Given the description of an element on the screen output the (x, y) to click on. 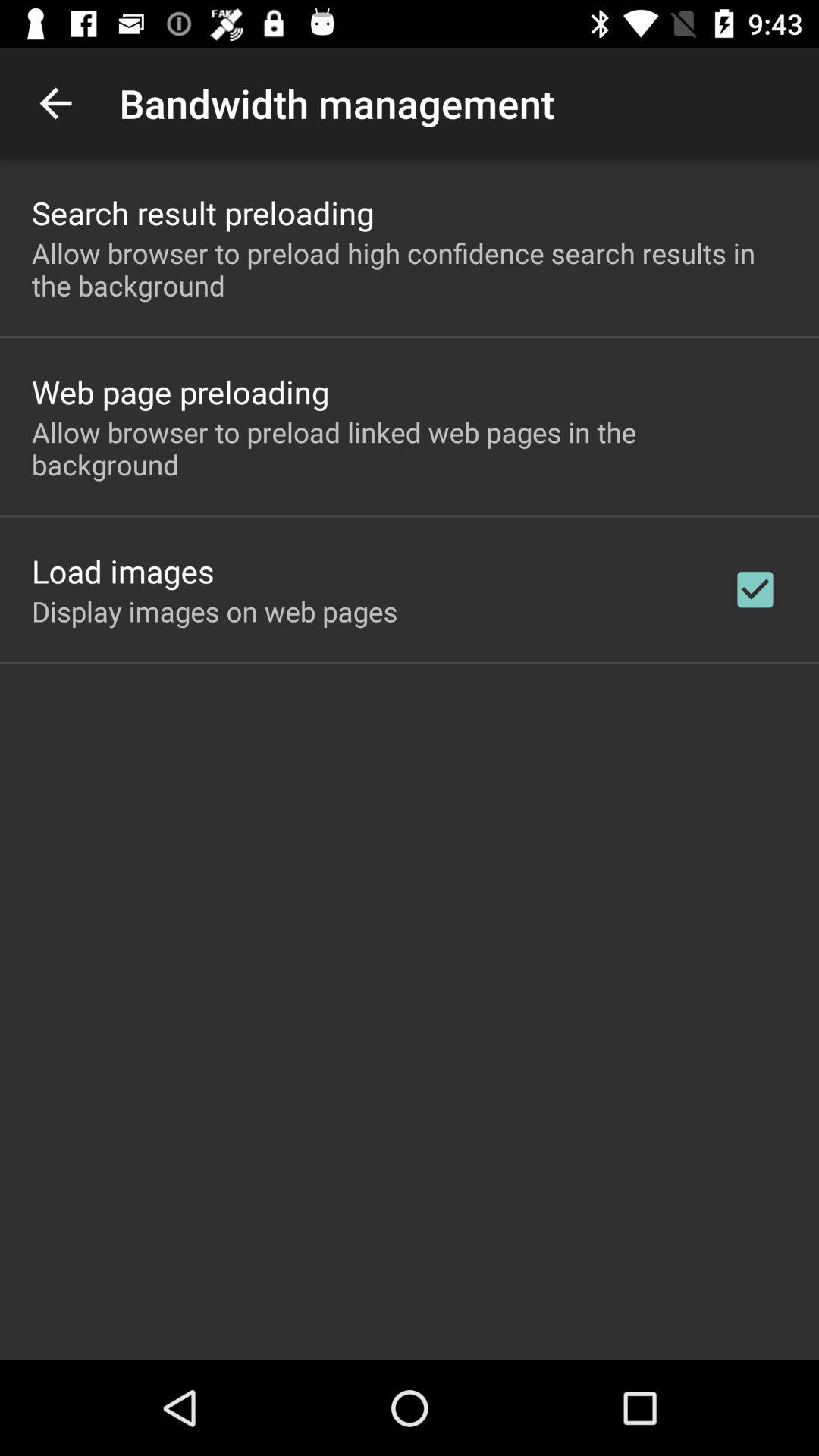
select the app below load images item (214, 611)
